Given the description of an element on the screen output the (x, y) to click on. 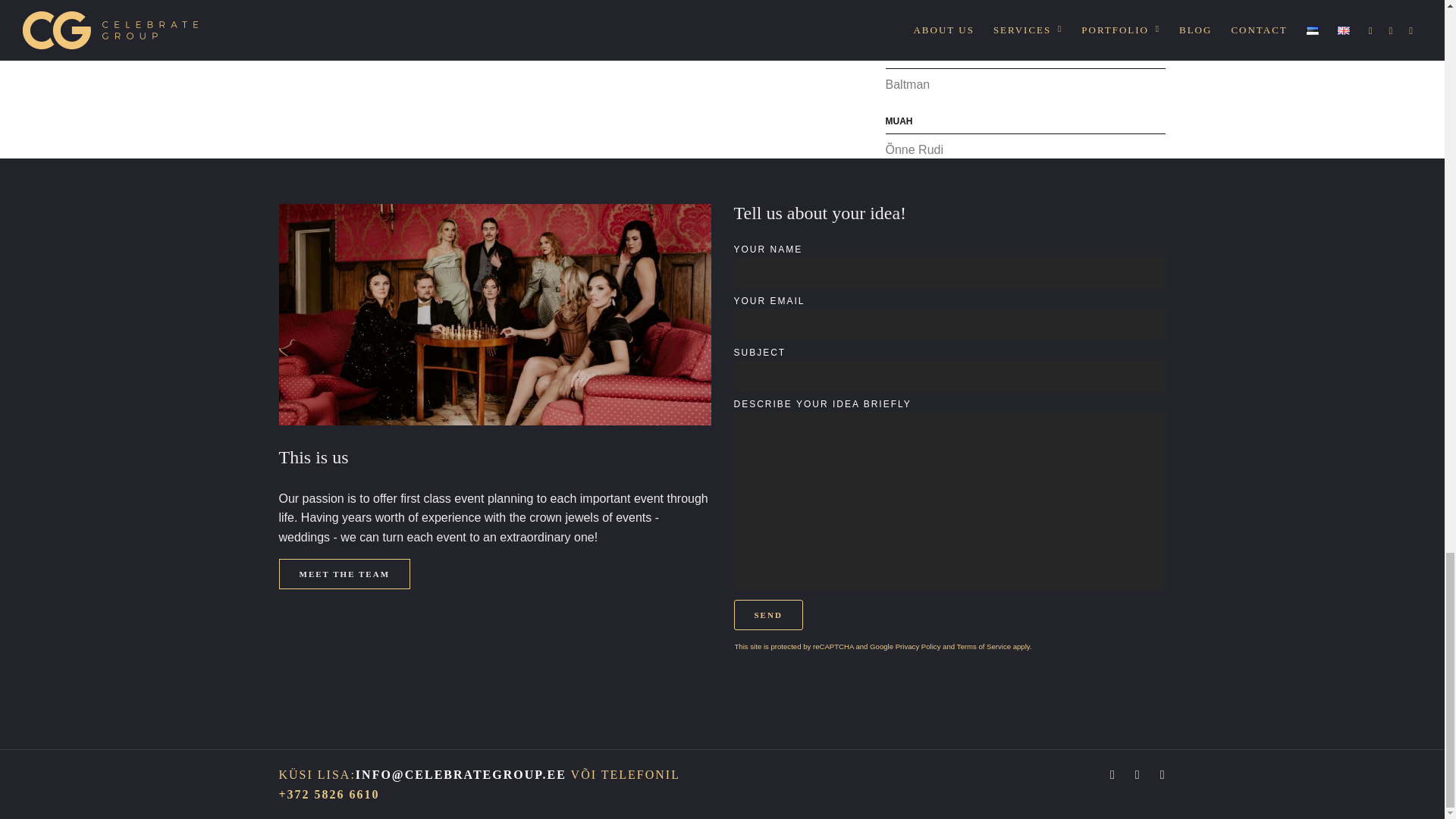
MEET THE TEAM (344, 573)
Send (768, 614)
Send (768, 614)
